Given the description of an element on the screen output the (x, y) to click on. 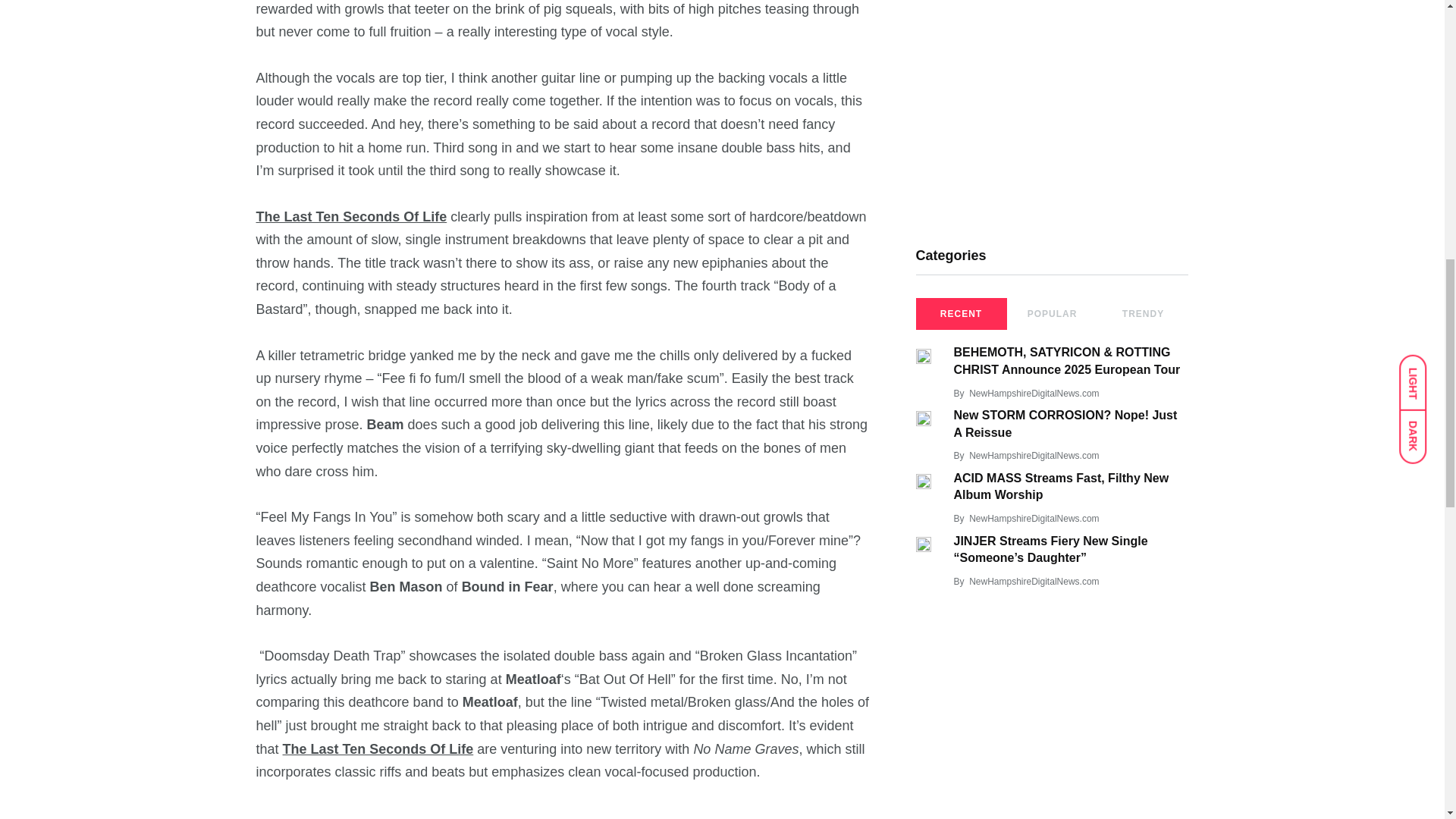
Posts by NewHampshireDigitalNews.com (1034, 581)
Posts by NewHampshireDigitalNews.com (1034, 518)
Posts by NewHampshireDigitalNews.com (1034, 455)
Posts by NewHampshireDigitalNews.com (1034, 393)
